Given the description of an element on the screen output the (x, y) to click on. 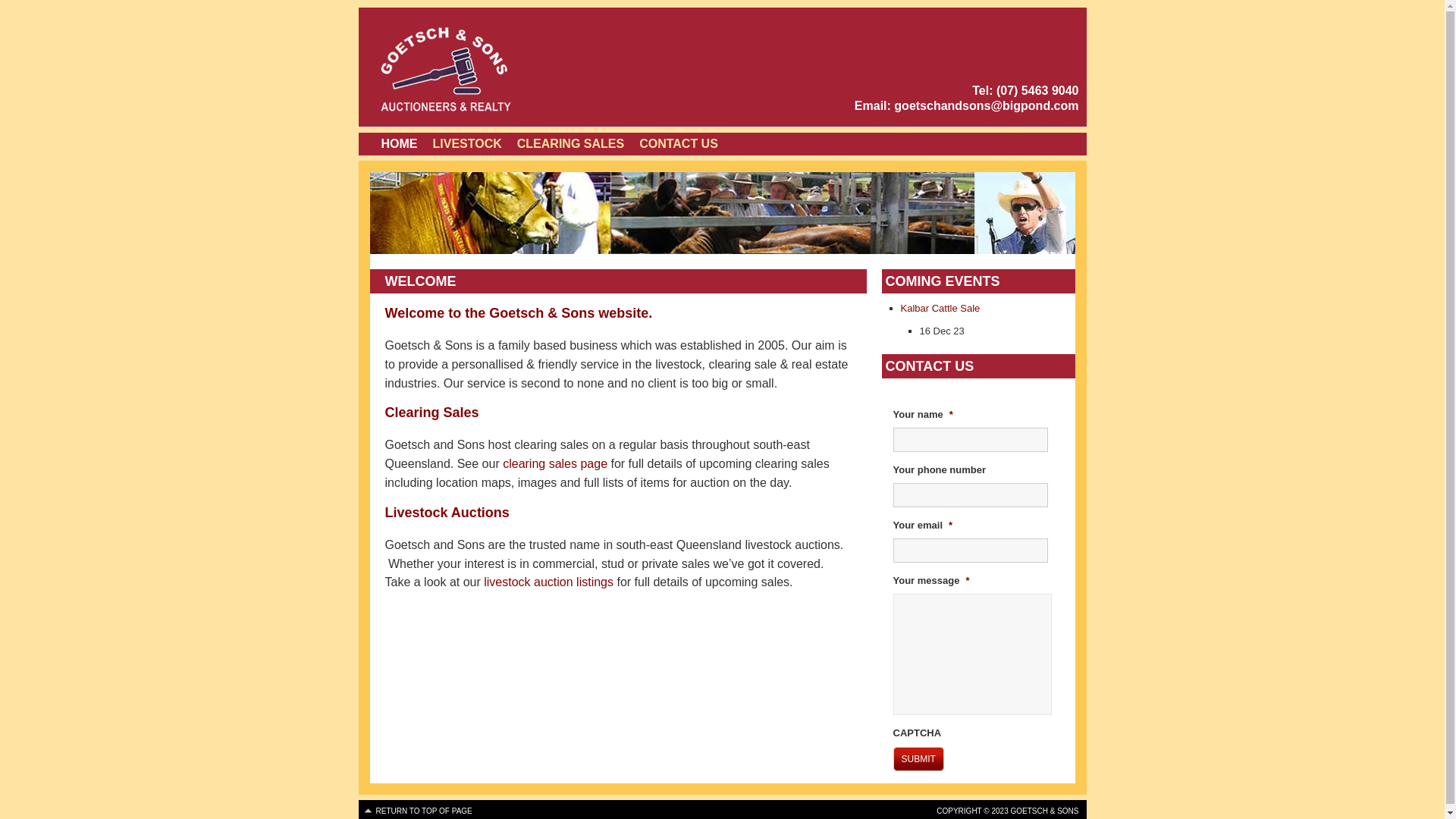
HOME Element type: text (398, 143)
GOETSCH & SON Element type: text (498, 67)
RETURN TO TOP OF PAGE Element type: text (417, 810)
clearing sales page Element type: text (554, 463)
Submit Element type: text (918, 758)
CLEARING SALES Element type: text (570, 143)
LIVESTOCK Element type: text (466, 143)
livestock auction listings Element type: text (548, 581)
CONTACT US Element type: text (678, 143)
goetschandsons@bigpond.com Element type: text (986, 105)
Kalbar Cattle Sale Element type: text (940, 307)
